Given the description of an element on the screen output the (x, y) to click on. 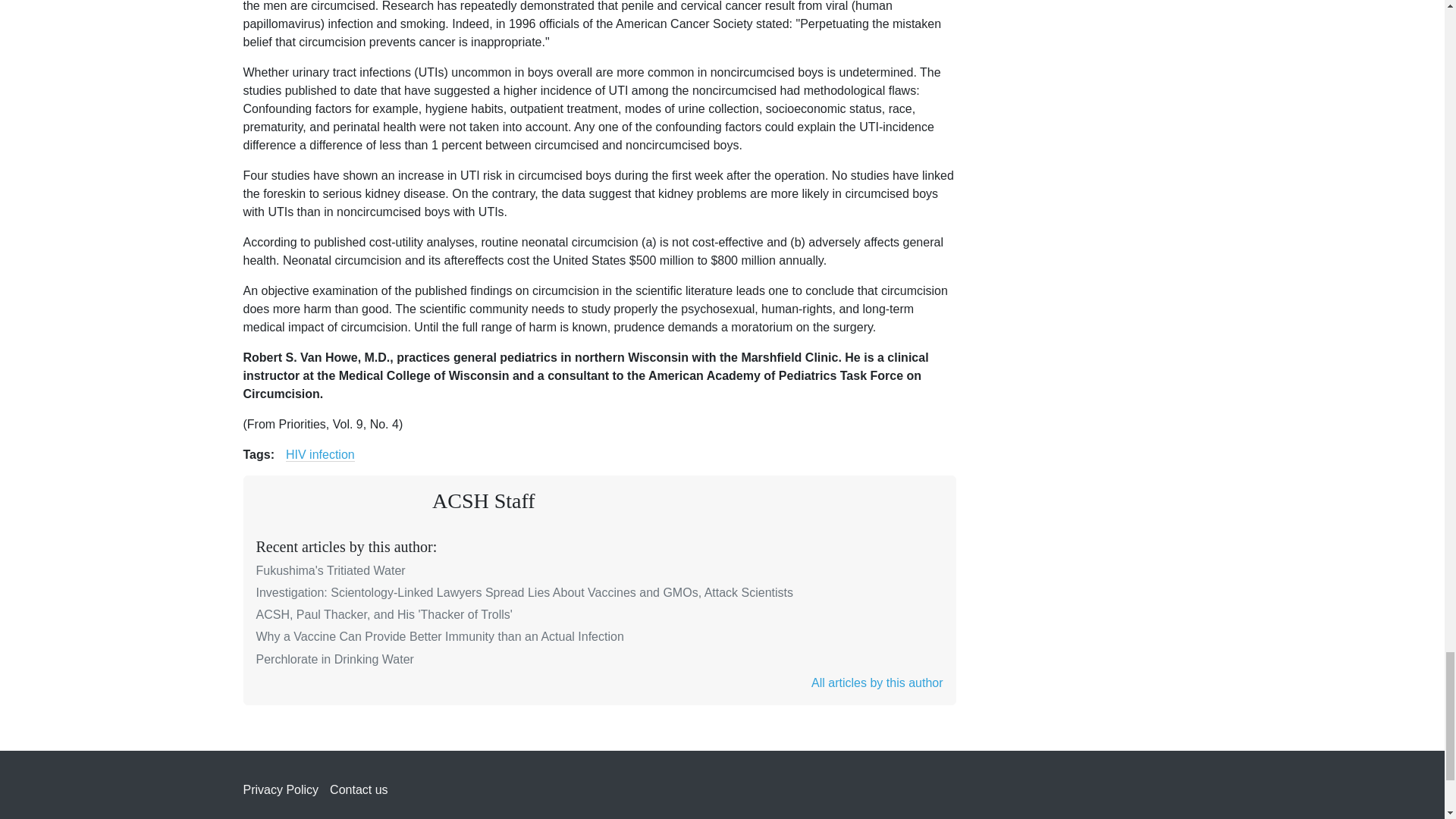
Fukushima's Tritiated Water (331, 570)
Perchlorate in Drinking Water (334, 658)
ACSH Staff (483, 500)
HIV infection (320, 454)
ACSH, Paul Thacker, and His 'Thacker of Trolls' (384, 614)
